Given the description of an element on the screen output the (x, y) to click on. 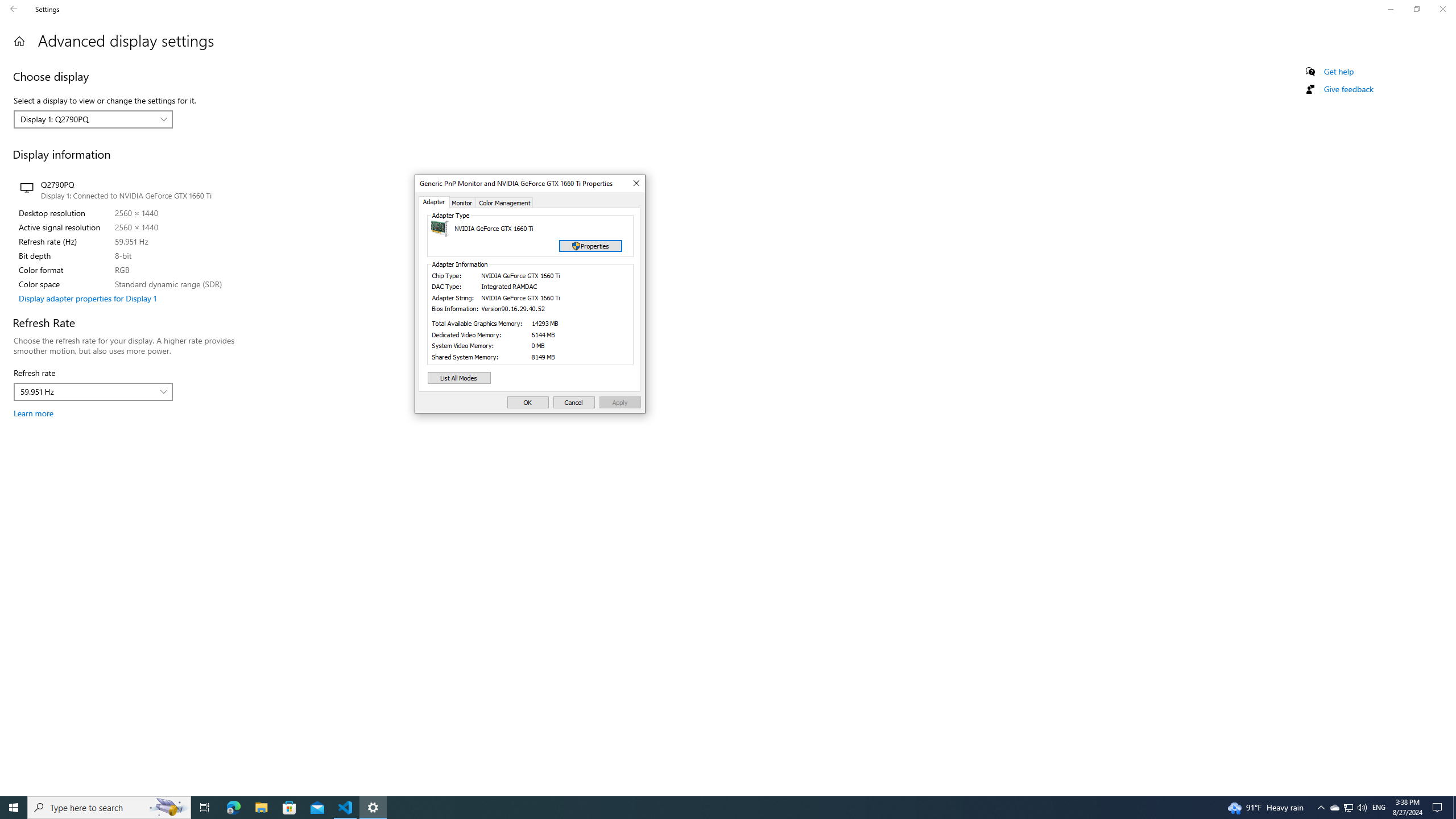
Microsoft Store (289, 807)
Start (13, 807)
Cancel (574, 401)
Search highlights icon opens search home window (167, 807)
Q2790: 100% (1361, 807)
Settings - 1 running window (373, 807)
Adapter (433, 202)
Tray Input Indicator - English (United States) (1378, 807)
Color Management (505, 202)
Running applications (706, 807)
OK (527, 401)
Action Center, No new notifications (1439, 807)
File Explorer (261, 807)
